Given the description of an element on the screen output the (x, y) to click on. 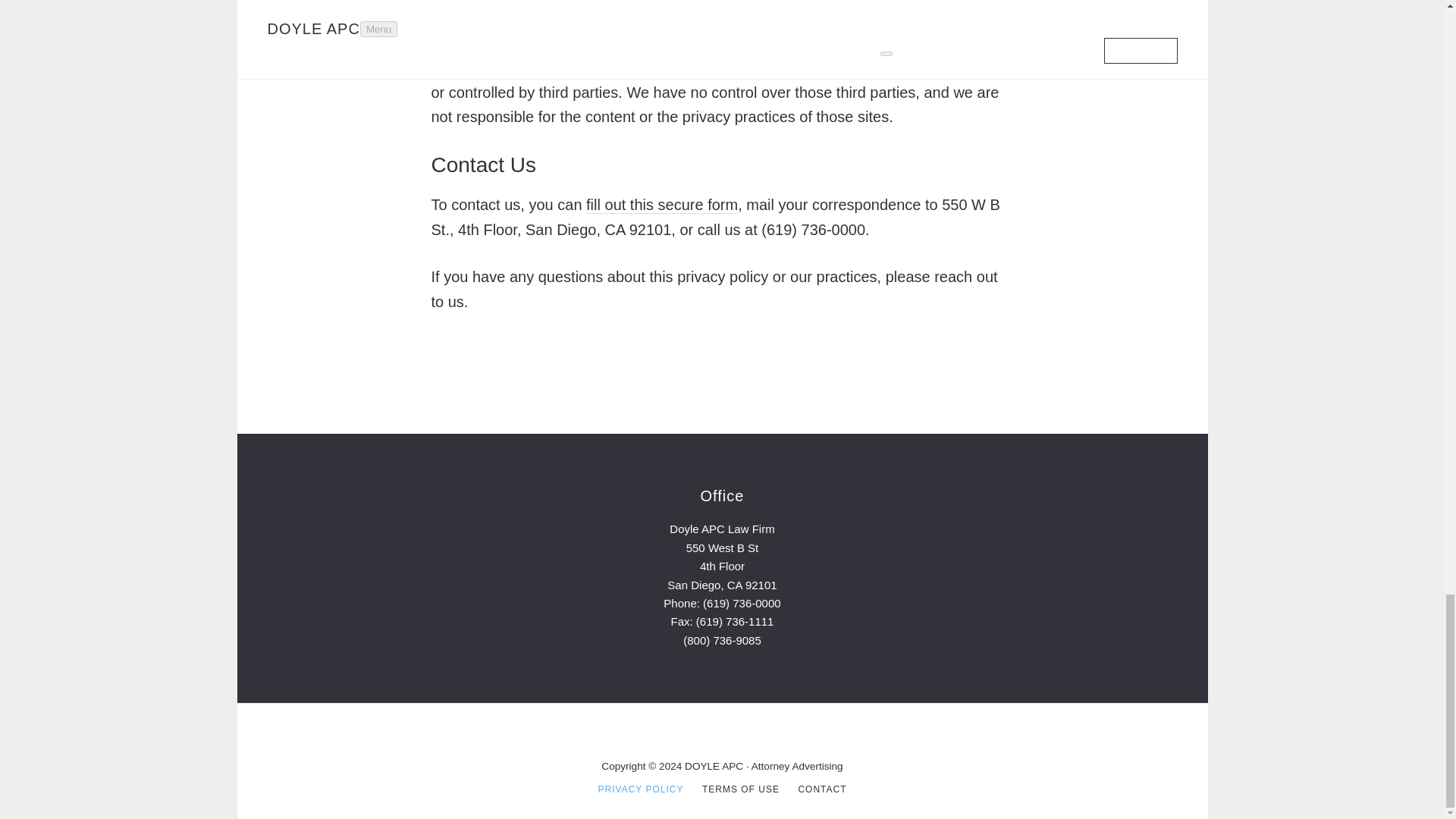
TERMS OF USE (739, 788)
Attorney Advertising (797, 766)
CONTACT (821, 788)
fill out this secure form (662, 204)
PRIVACY POLICY (641, 788)
